Given the description of an element on the screen output the (x, y) to click on. 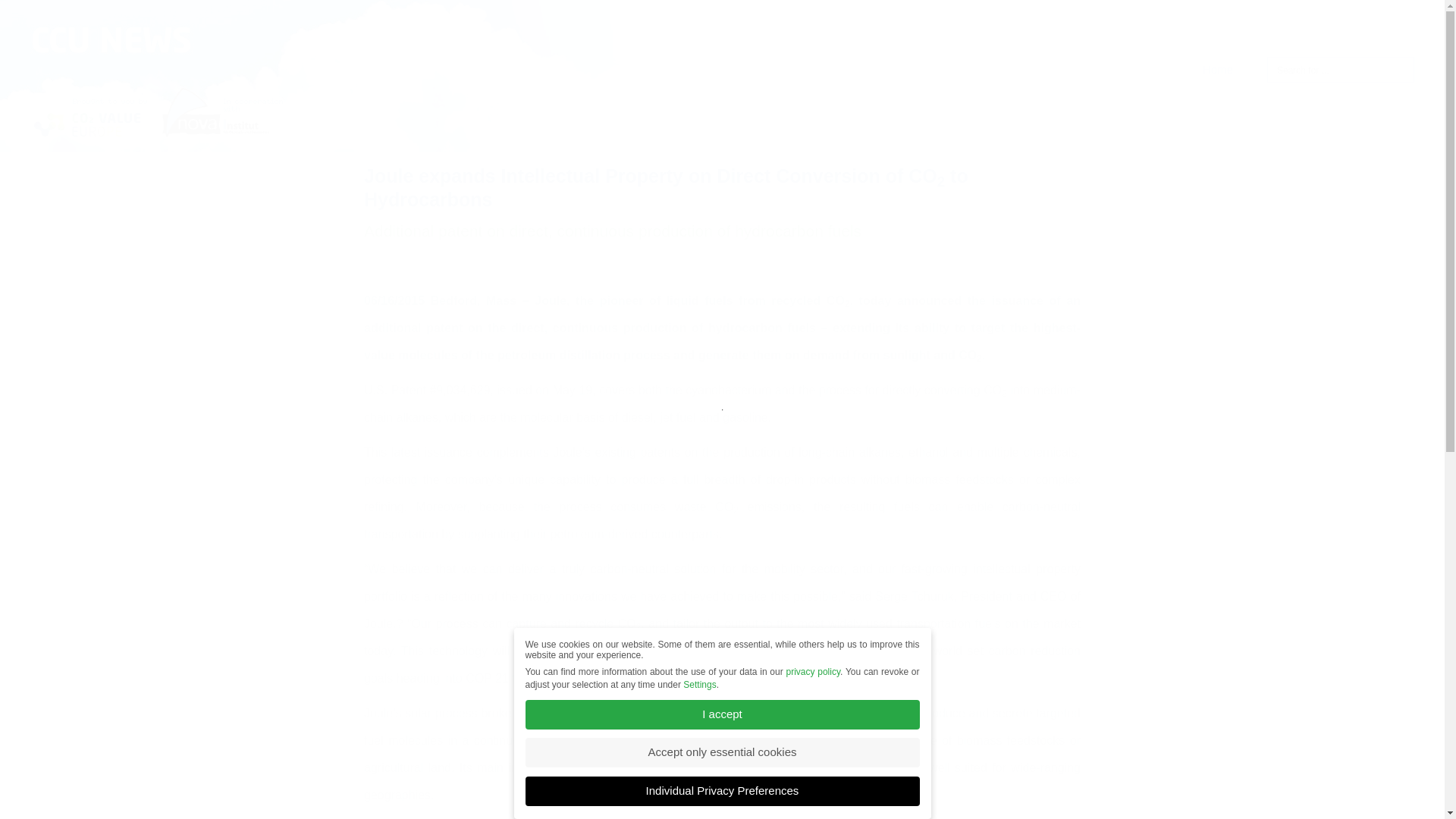
Individual Privacy Preferences (721, 799)
privacy policy (813, 691)
I accept (721, 728)
Settings (699, 700)
Accept only essential cookies (721, 763)
GO (34, 12)
